Given the description of an element on the screen output the (x, y) to click on. 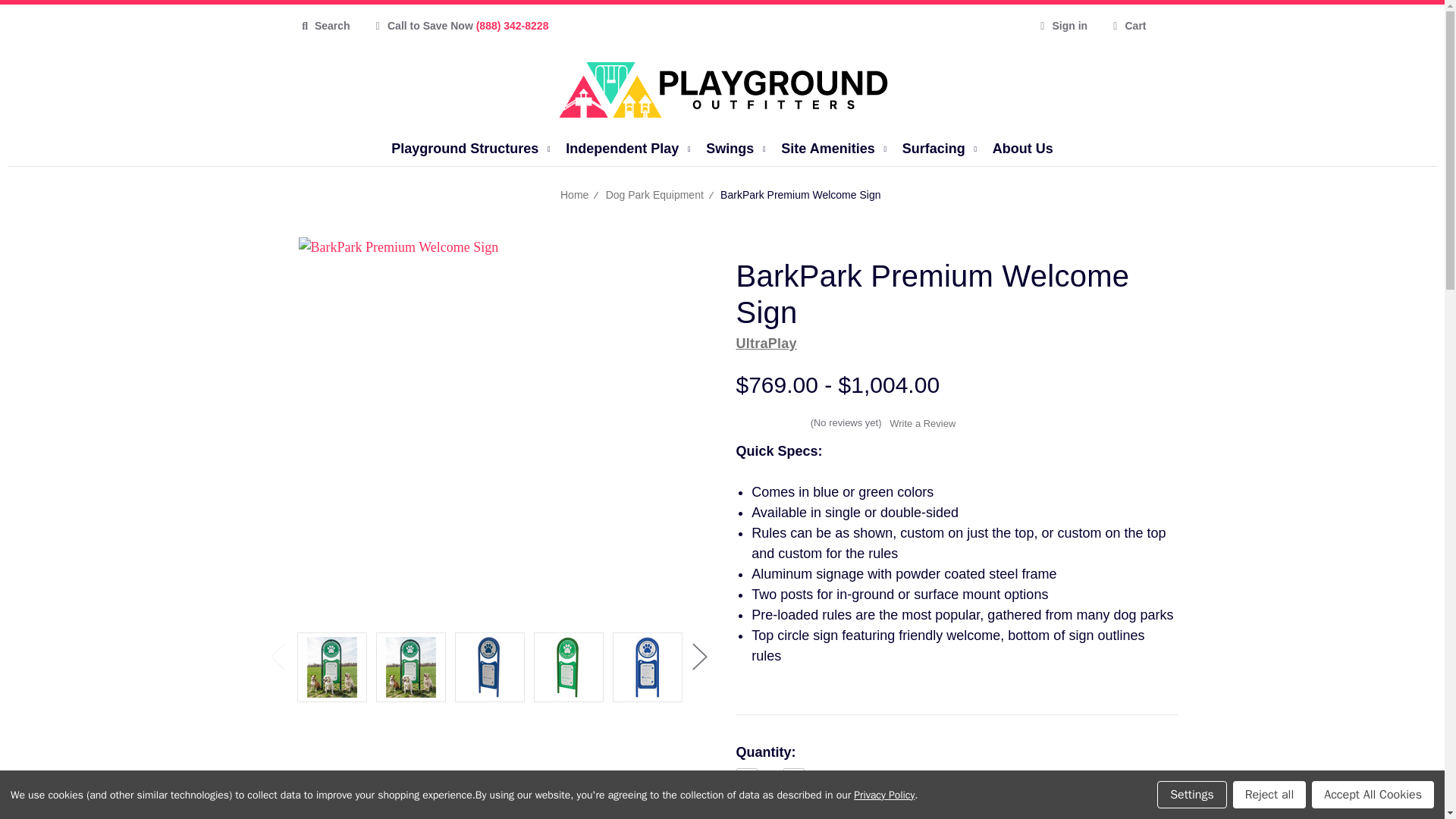
Playground Structures (461, 148)
1 (770, 777)
Search (324, 25)
Sign in (1061, 25)
Playground Outfitters (721, 89)
Independent Play (618, 148)
Cart (1126, 25)
